Given the description of an element on the screen output the (x, y) to click on. 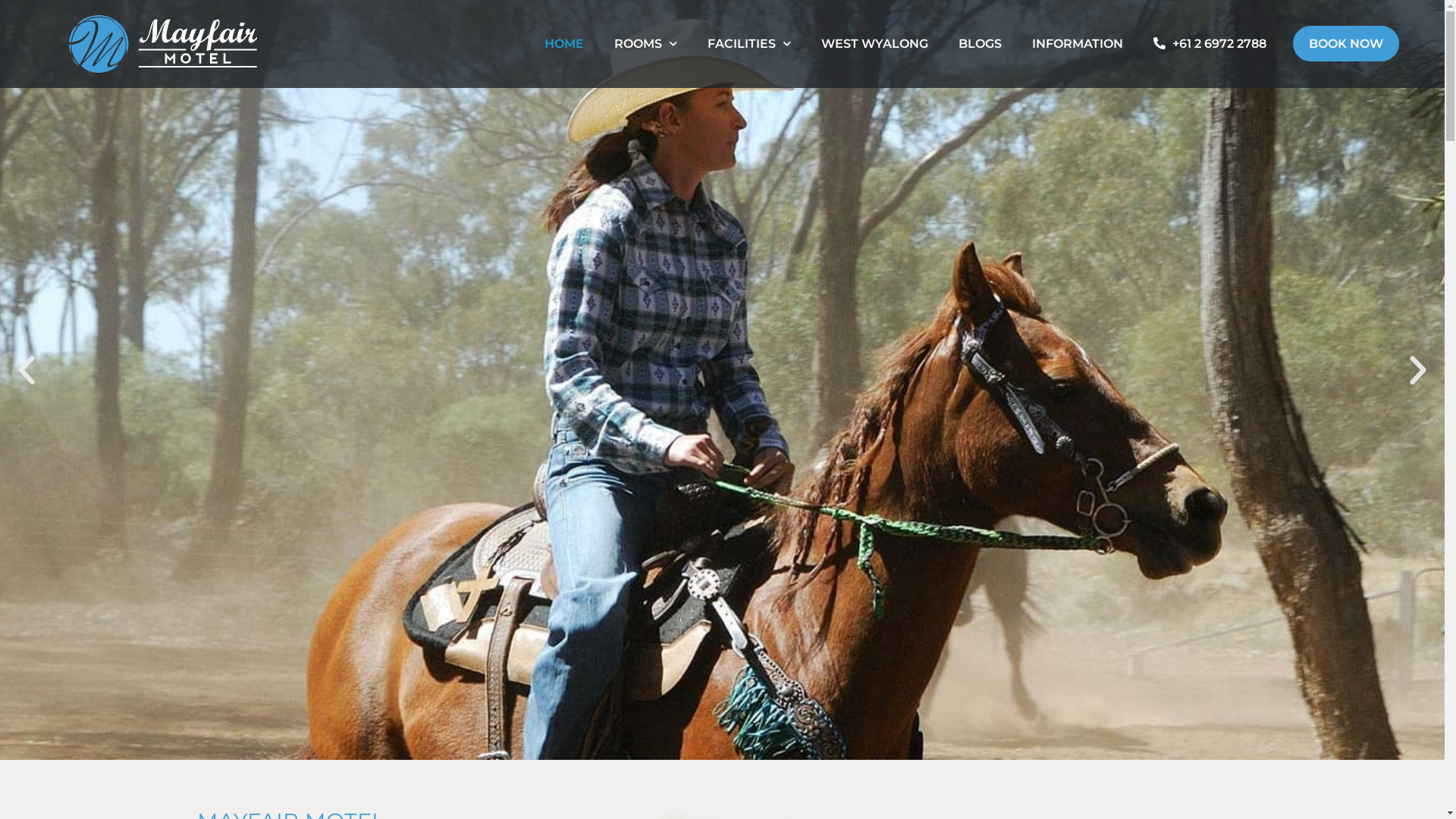
+61 2 6972 2788 Element type: text (1209, 43)
FACILITIES Element type: text (749, 43)
INFORMATION Element type: text (1077, 43)
WEST WYALONG Element type: text (874, 43)
BLOGS Element type: text (979, 43)
ROOMS Element type: text (645, 43)
BOOK NOW Element type: text (1345, 43)
HOME Element type: text (564, 43)
